Given the description of an element on the screen output the (x, y) to click on. 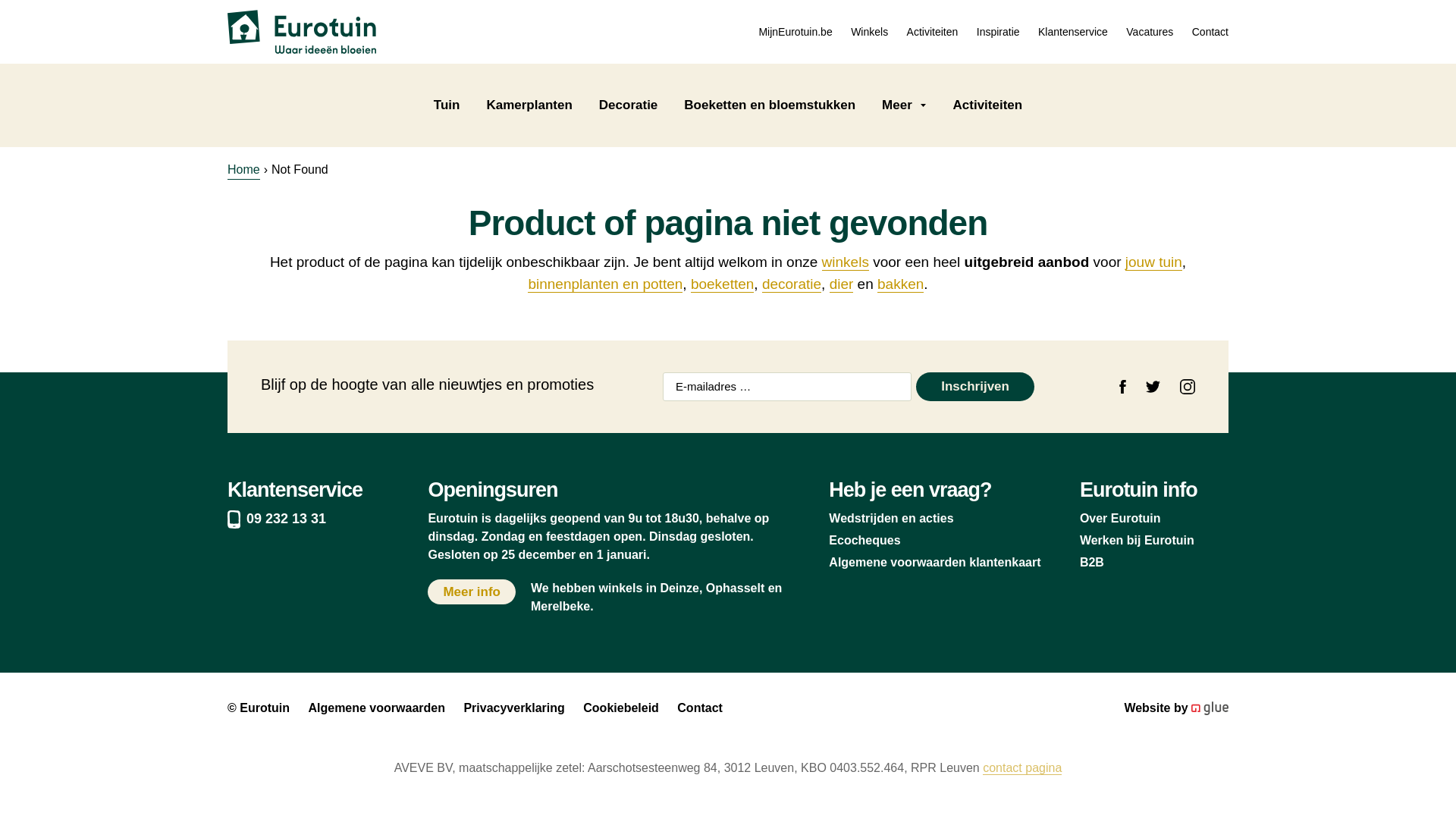
Contact (1210, 31)
Kamerplanten (528, 104)
Meer (903, 104)
Decoratie (628, 104)
Activiteiten (987, 104)
Inspiratie (998, 31)
MijnEurotuin.be (794, 31)
Activiteiten (932, 31)
Vacatures (1149, 31)
Winkels (869, 31)
